Given the description of an element on the screen output the (x, y) to click on. 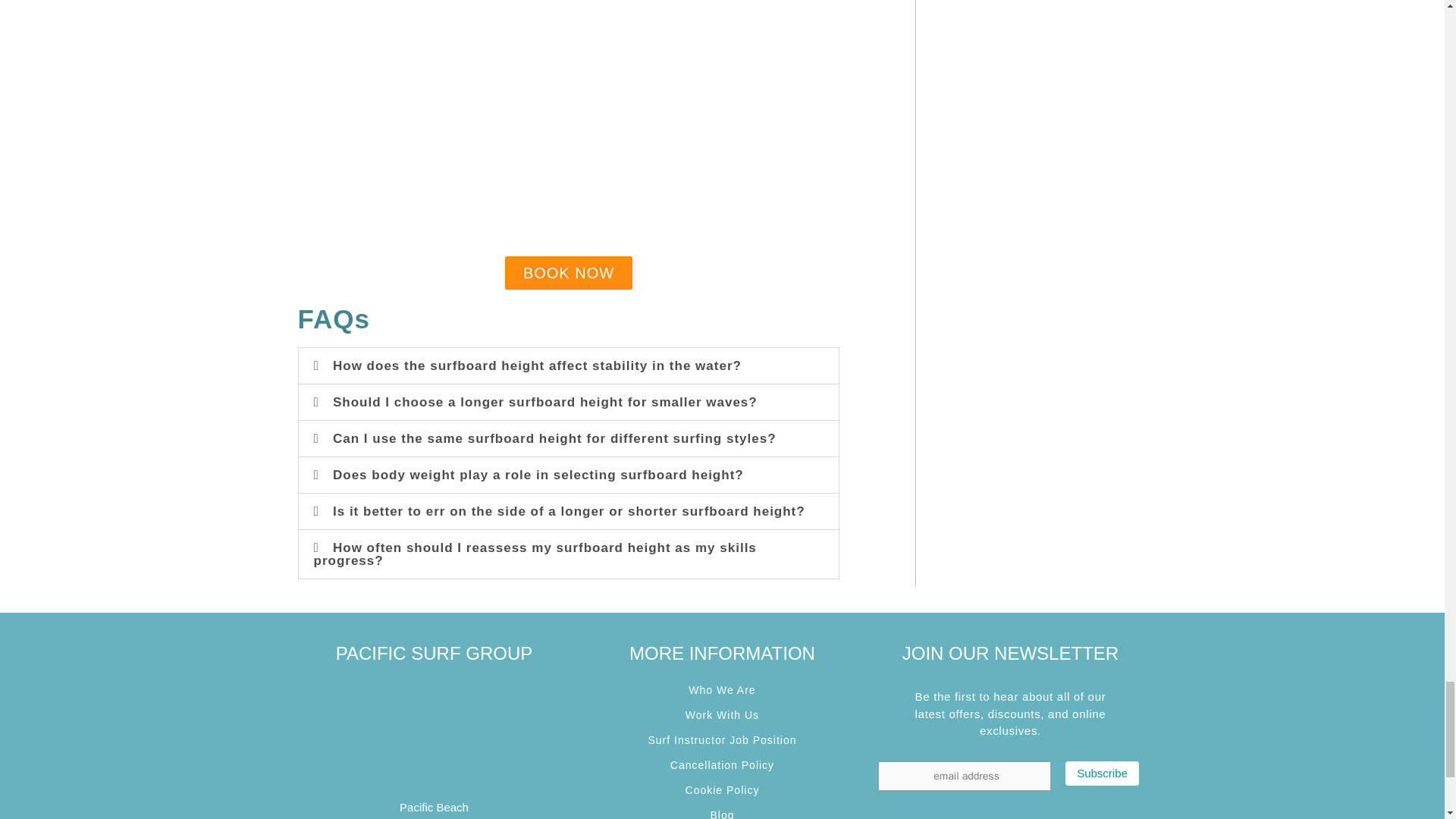
Subscribe (1101, 773)
